Given the description of an element on the screen output the (x, y) to click on. 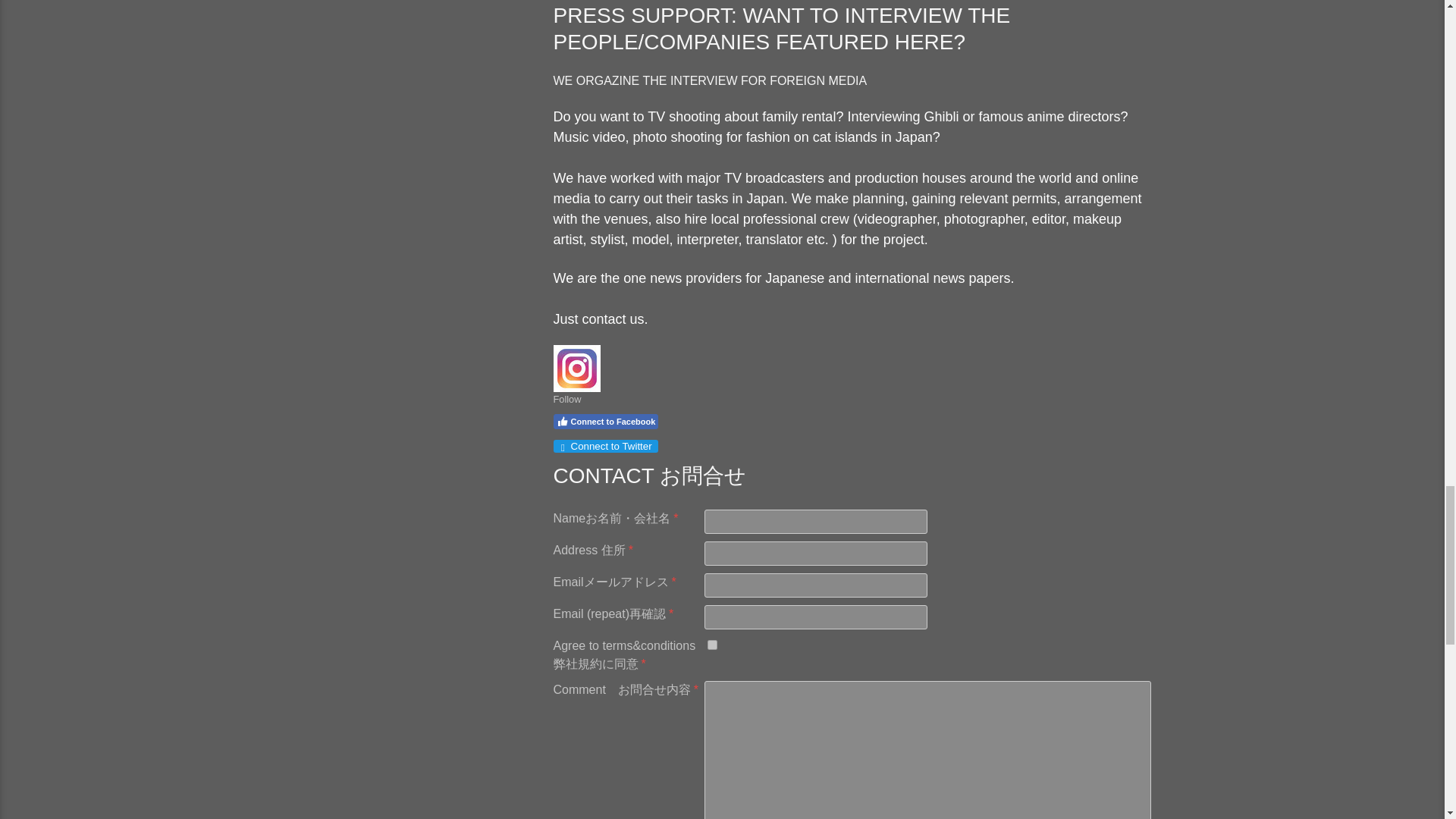
1 (711, 644)
Contact (600, 318)
